Given the description of an element on the screen output the (x, y) to click on. 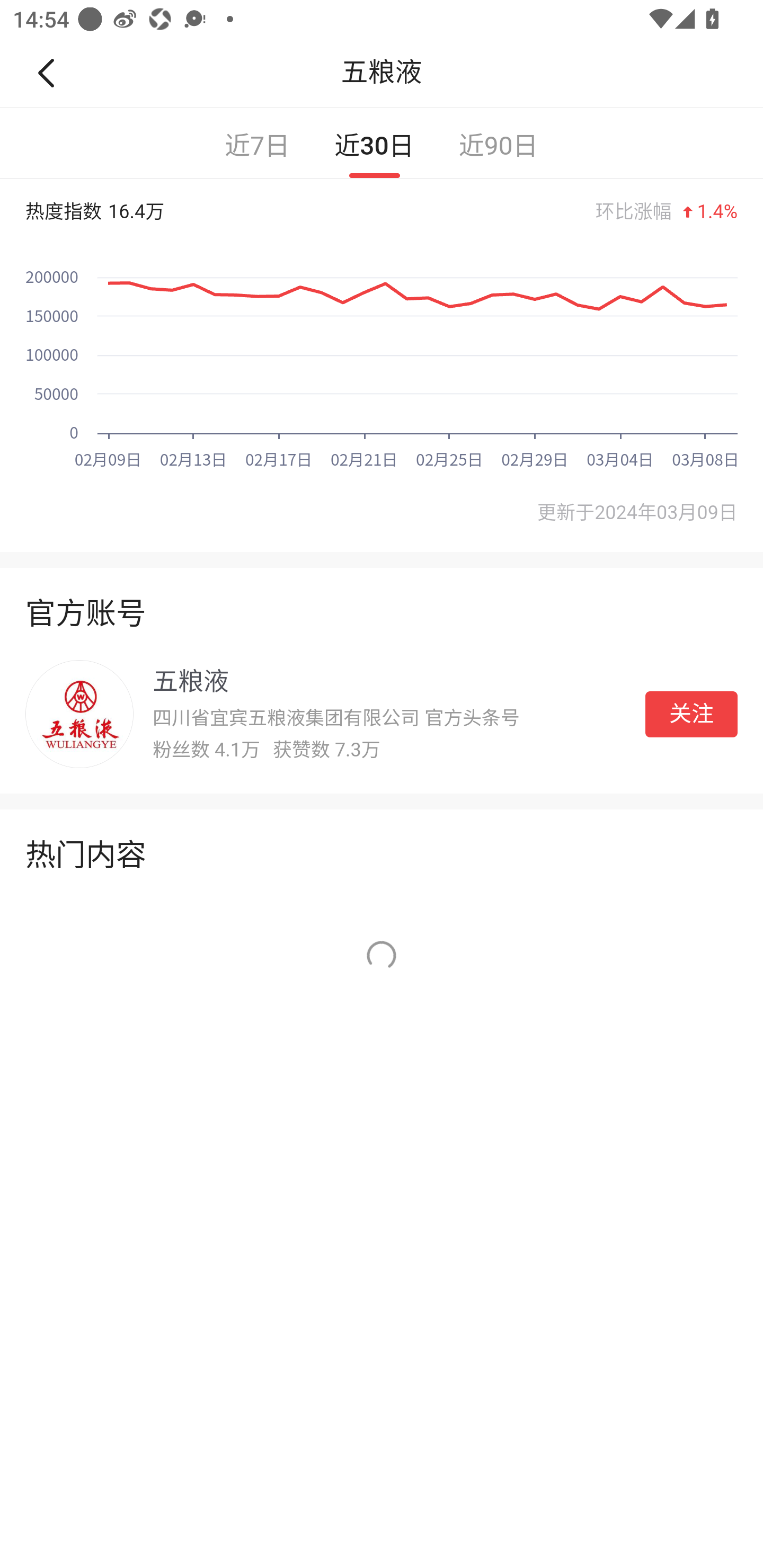
返回 (53, 72)
近7日 (257, 143)
近30日 (374, 143)
近90日 (497, 143)
头像 五粮液 四川省宜宾五粮液集团有限公司 官方头条号 粉丝数 4.1万获赞数 7.3万 关注 (381, 714)
